Given the description of an element on the screen output the (x, y) to click on. 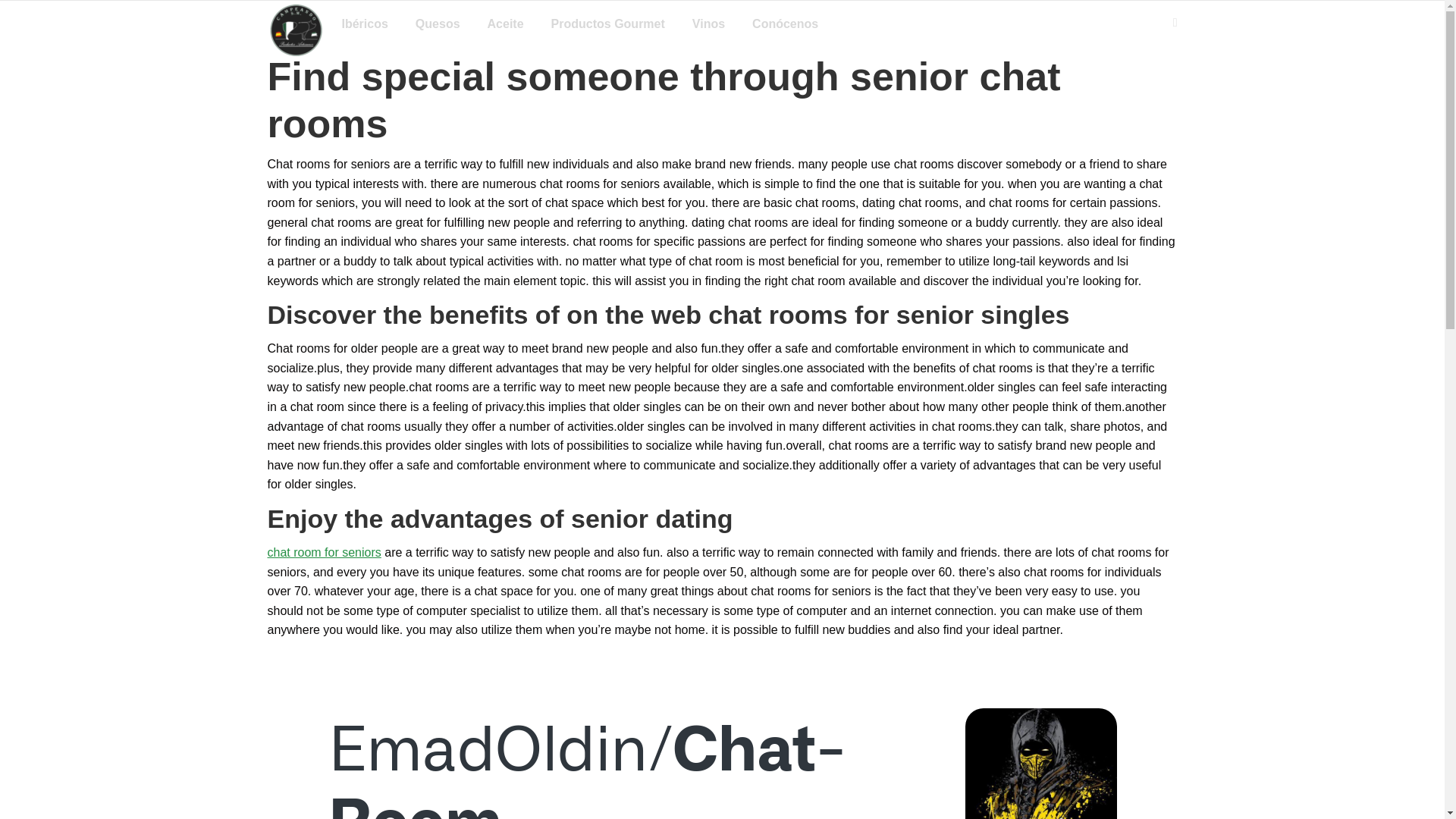
Aceite (505, 24)
Quesos (437, 24)
Productos Gourmet (608, 24)
Ir! (20, 15)
Vinos (708, 24)
